Given the description of an element on the screen output the (x, y) to click on. 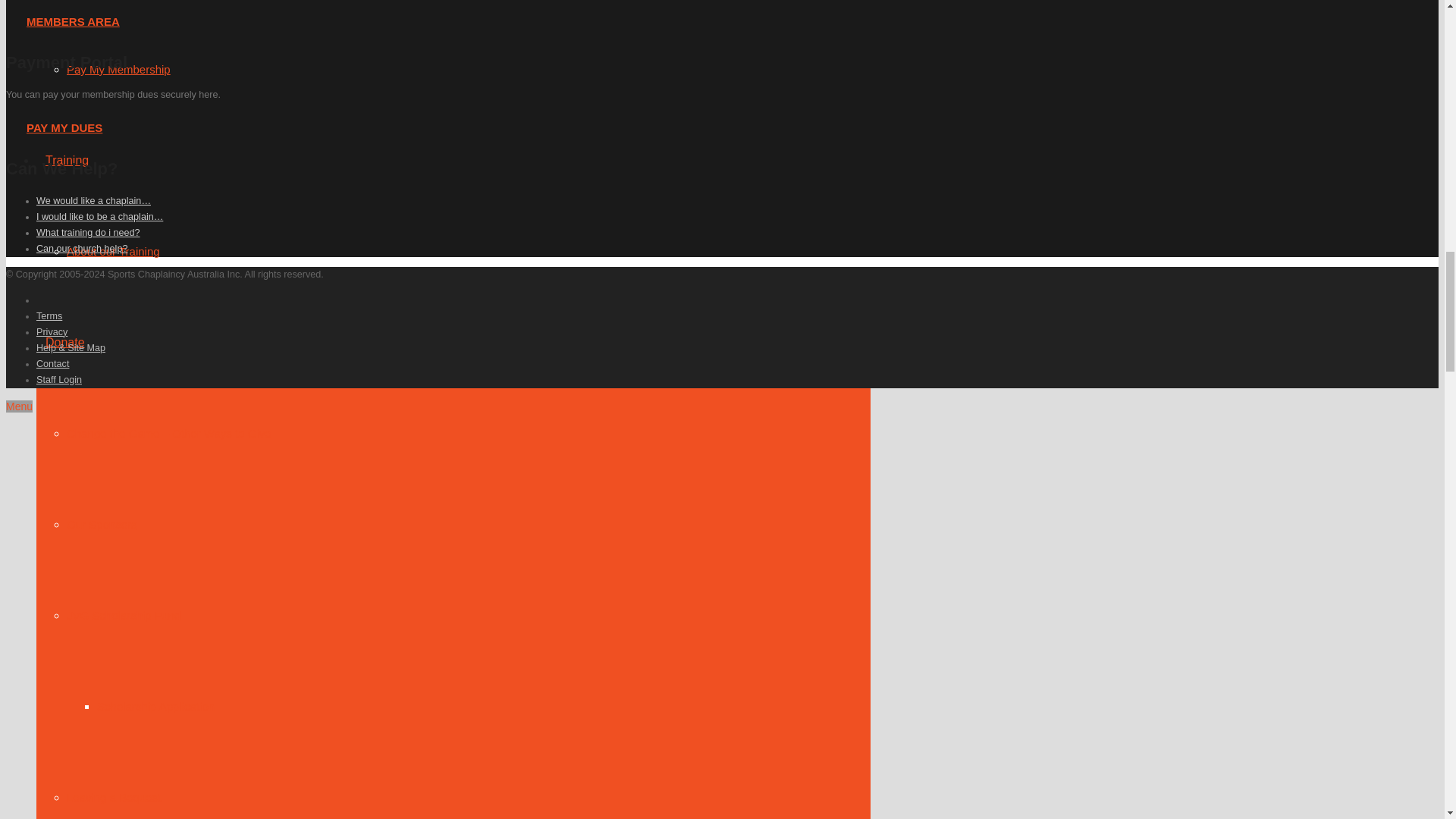
Our Sponsors (101, 523)
Pay My Membership (118, 69)
Donate (65, 341)
Training (66, 160)
Leaving a Bequest (113, 797)
About our Training (113, 250)
JVG Scholarship Fund (123, 615)
Scholarship Application (155, 706)
